Given the description of an element on the screen output the (x, y) to click on. 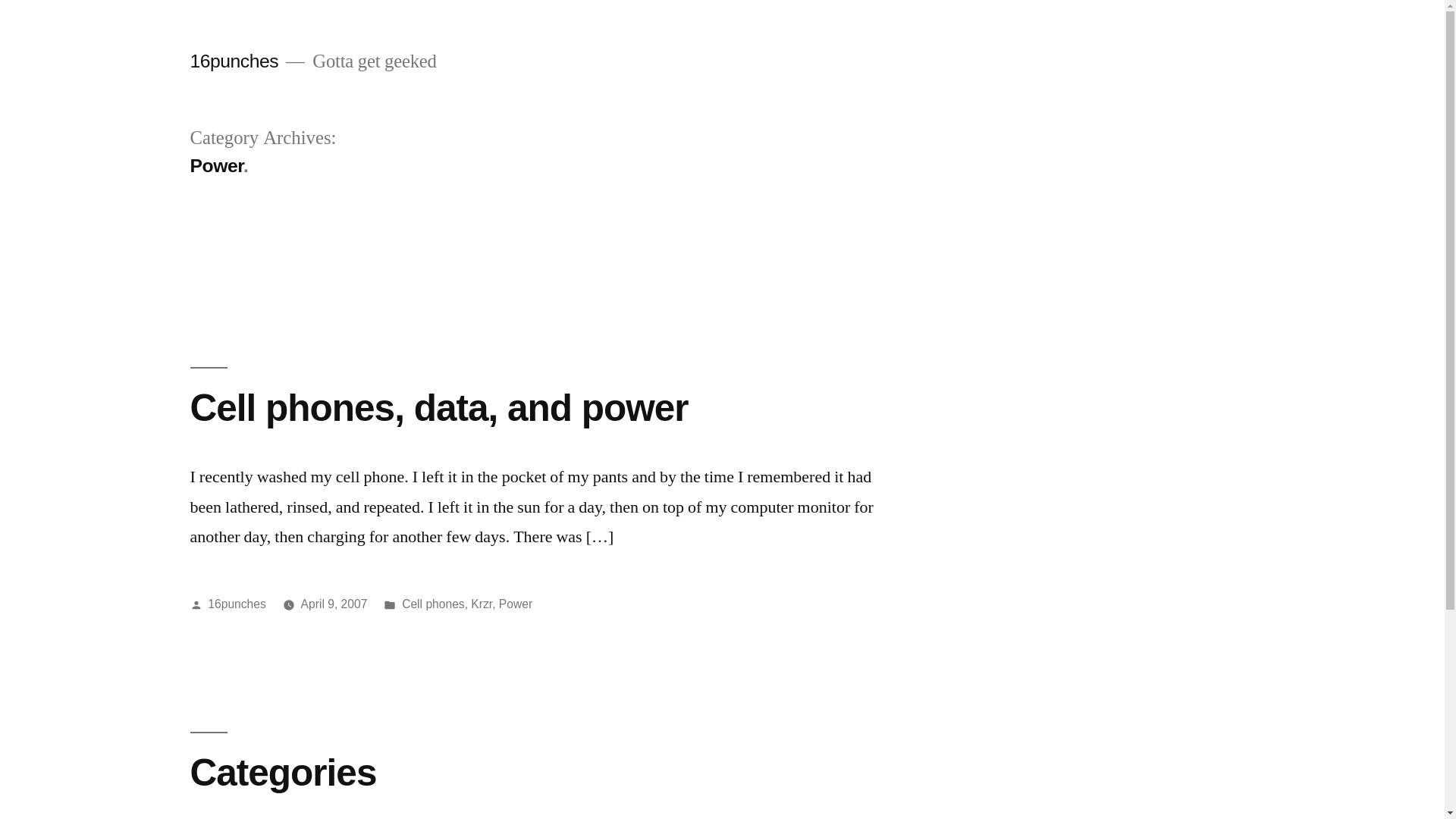
16punches Element type: text (233, 60)
Krzr Element type: text (481, 603)
Power Element type: text (515, 603)
Cell phones Element type: text (432, 603)
Cell phones, data, and power Element type: text (438, 407)
16punches Element type: text (236, 603)
April 9, 2007 Element type: text (334, 603)
